Given the description of an element on the screen output the (x, y) to click on. 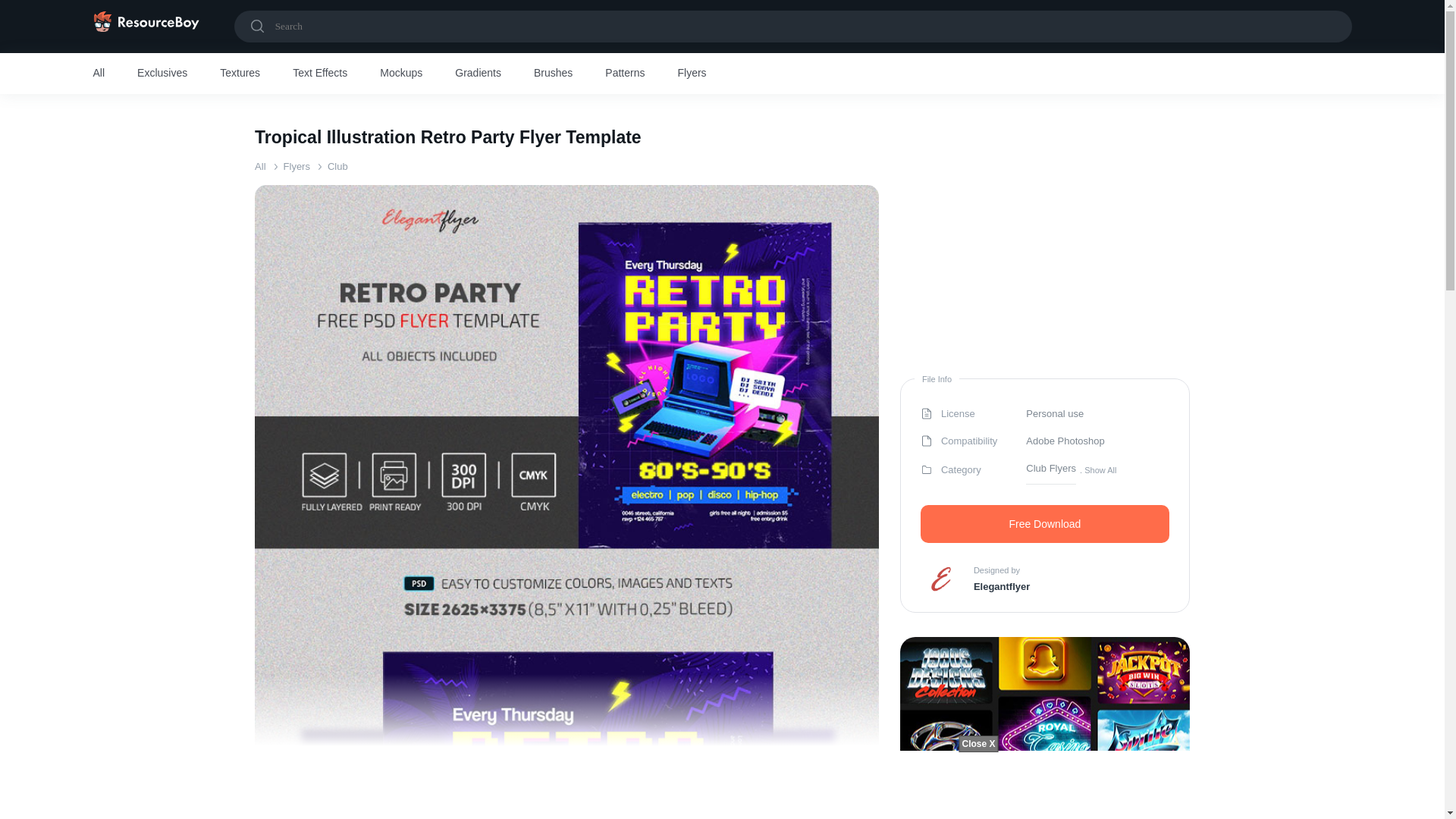
Free Download (1044, 523)
Brushes (553, 73)
Patterns (625, 73)
3rd party ad content (1044, 279)
Flyers (296, 165)
Textures (239, 73)
Text Effects (319, 73)
Elegantflyer (1001, 586)
Club (337, 165)
Mockups (401, 73)
3rd party ad content (721, 785)
All (259, 165)
Club Flyers (1050, 469)
. Show All (1098, 469)
Exclusives (161, 73)
